Given the description of an element on the screen output the (x, y) to click on. 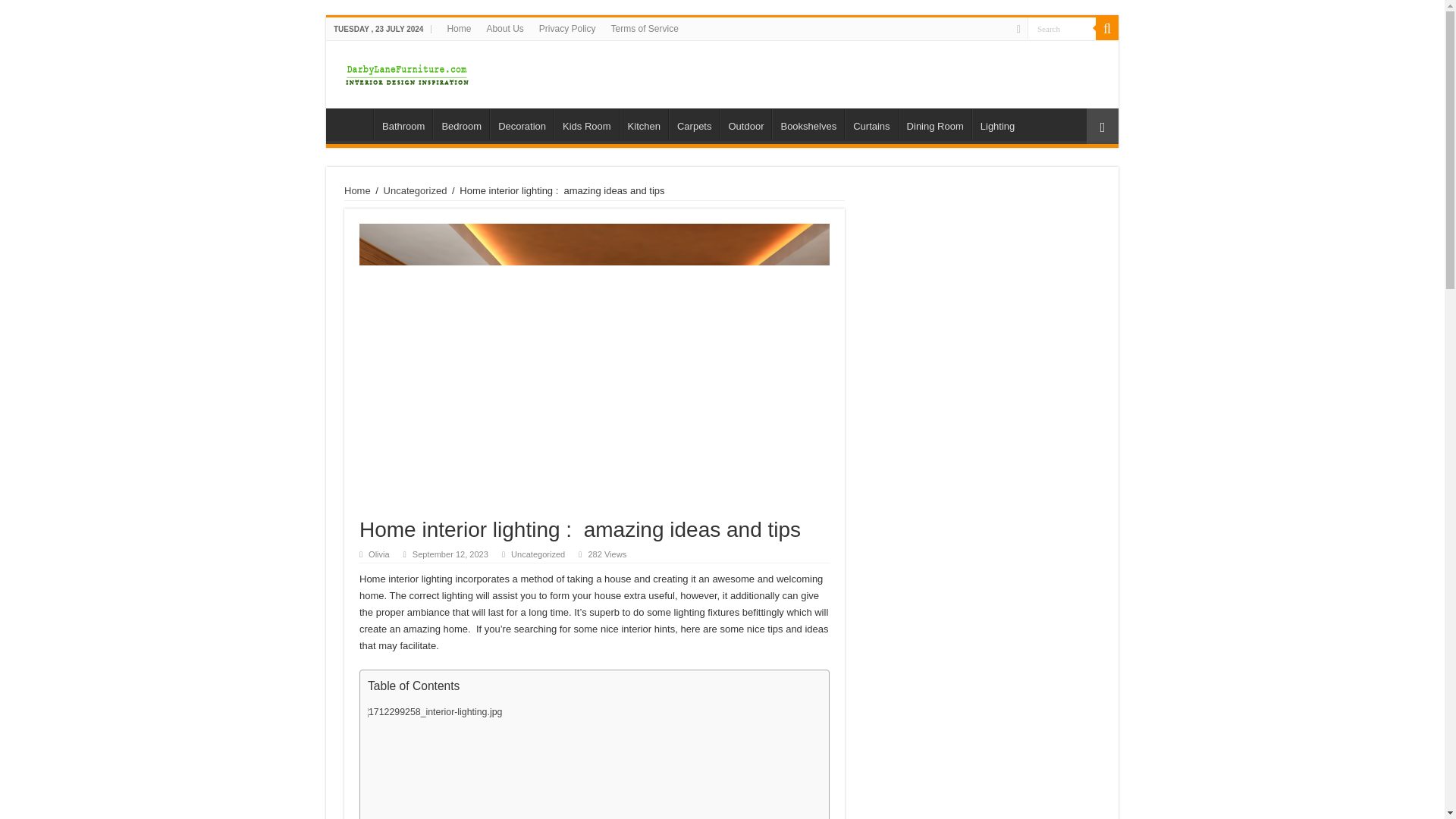
Privacy Policy (567, 28)
Bathroom (403, 124)
Uncategorized (415, 190)
Search (1107, 28)
Kitchen (644, 124)
Search (1061, 28)
Dining Room (934, 124)
Home (352, 124)
Home (357, 190)
About Us (505, 28)
Home (459, 28)
Lighting (997, 124)
Random Article (1102, 126)
Rss (1018, 29)
Carpets (693, 124)
